Given the description of an element on the screen output the (x, y) to click on. 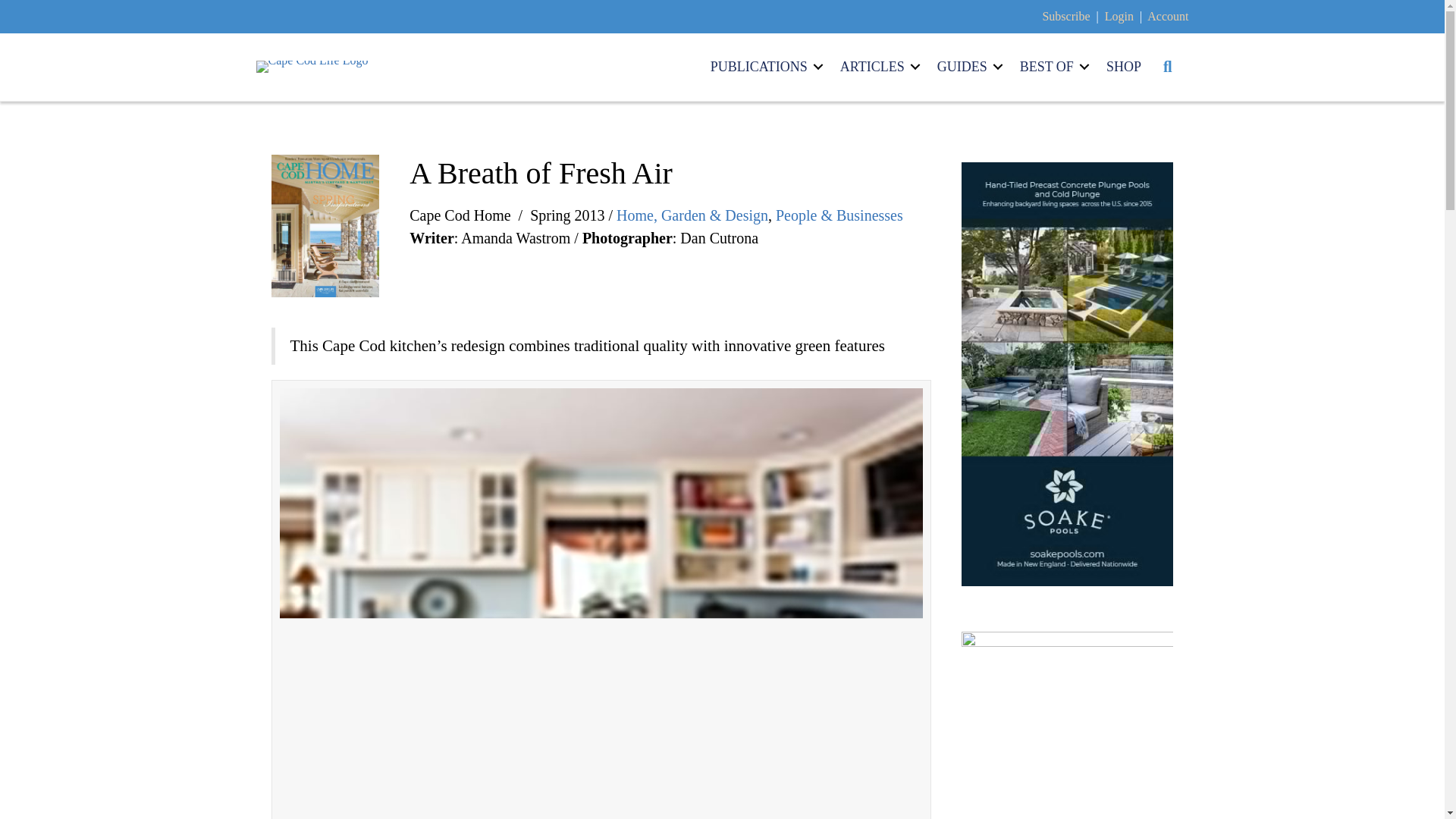
ARTICLES (877, 66)
BEST OF (1051, 66)
Login (1119, 15)
Account (1167, 15)
GUIDES (967, 66)
PUBLICATIONS (764, 66)
Subscribe (1065, 15)
